Given the description of an element on the screen output the (x, y) to click on. 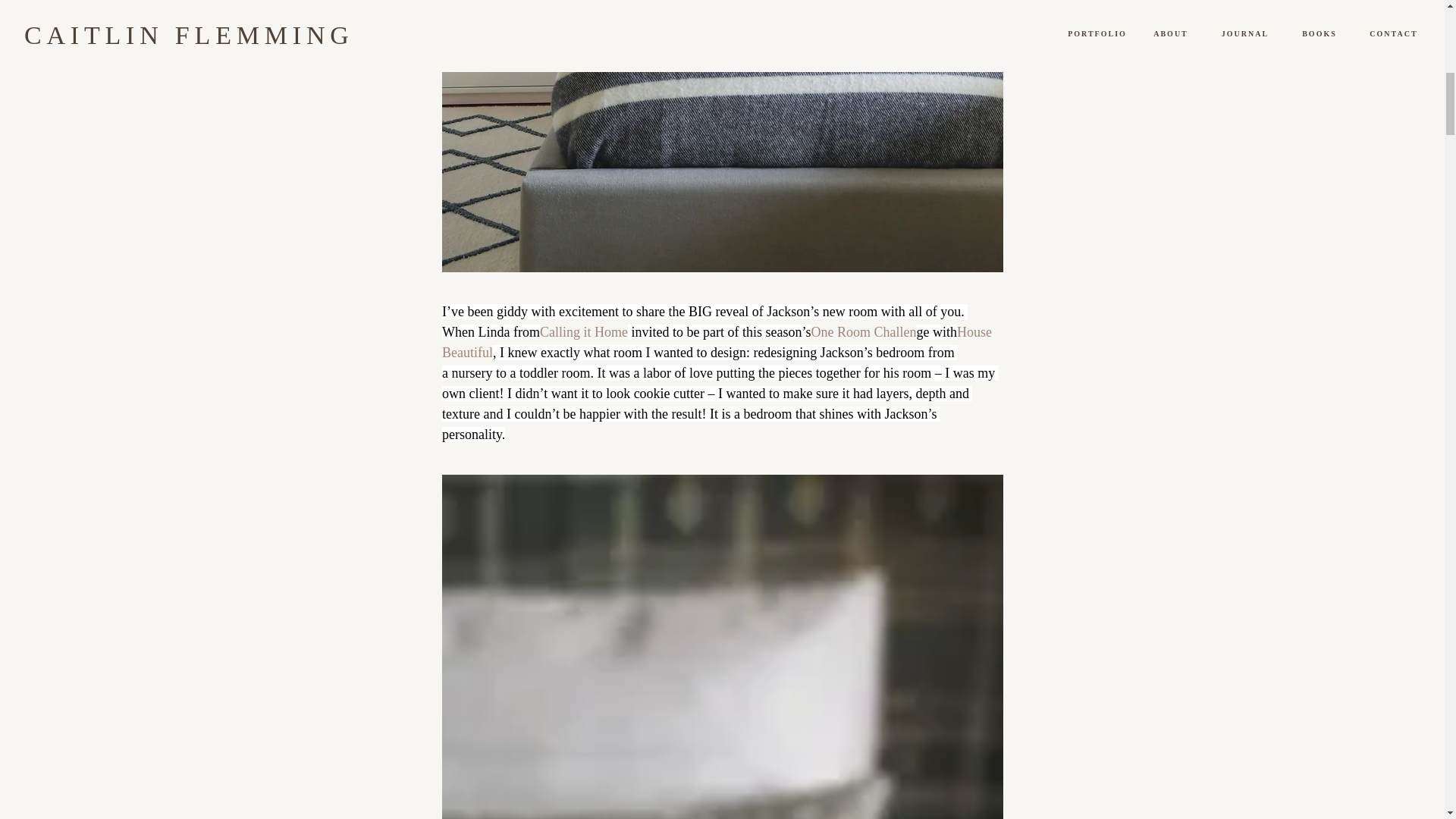
One Room Challen (862, 331)
Calling it Home (582, 331)
House Beautiful (717, 342)
